Given the description of an element on the screen output the (x, y) to click on. 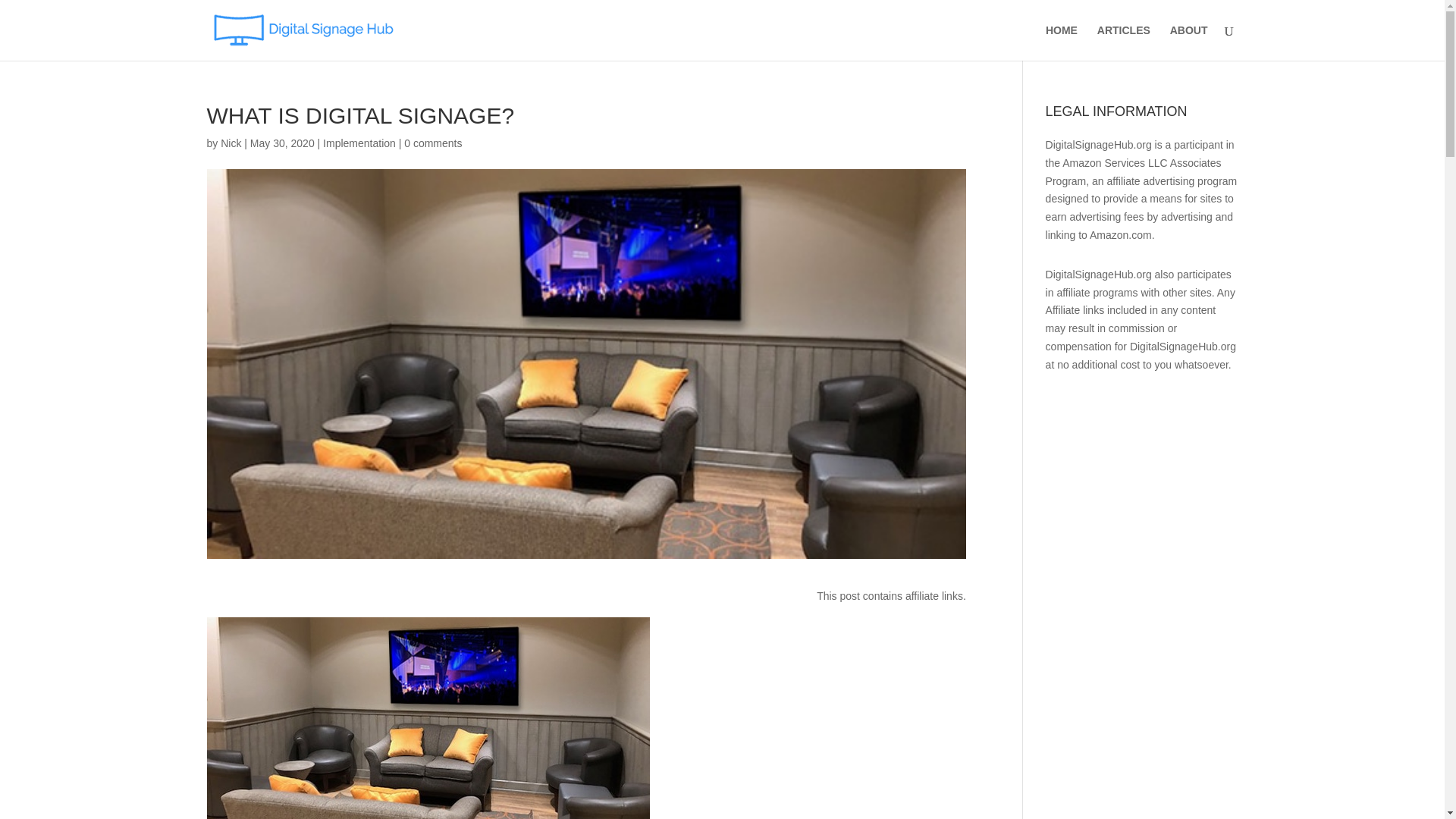
0 comments (432, 143)
Implementation (359, 143)
HOME (1061, 42)
What Is Digital Signage? (427, 718)
Posts by Nick (231, 143)
ARTICLES (1123, 42)
ABOUT (1189, 42)
Nick (231, 143)
